Given the description of an element on the screen output the (x, y) to click on. 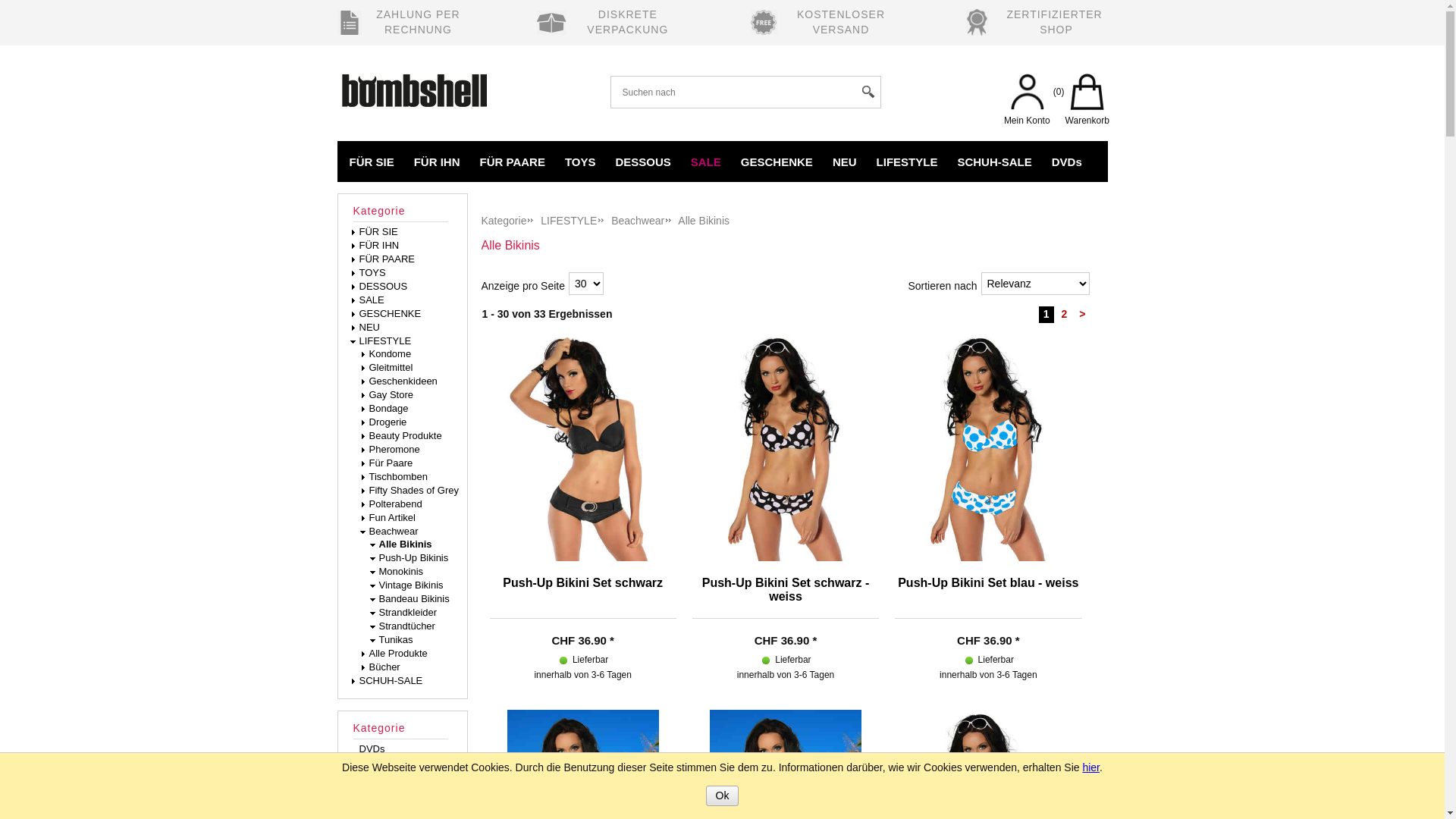
NEU Element type: text (844, 160)
 Fun Artikel Element type: text (392, 517)
 Monokinis Element type: text (402, 570)
 SALE Element type: text (372, 299)
 NEU Element type: text (370, 326)
 Drogerie Element type: text (387, 421)
 LIFESTYLE Element type: text (386, 340)
DVDs Element type: text (1066, 160)
Mein Konto Element type: hover (1027, 93)
 Kondome Element type: text (390, 353)
 Pheromone Element type: text (394, 448)
DESSOUS Element type: text (642, 160)
Zum Produkt Element type: hover (582, 447)
 Polterabend Element type: text (395, 503)
GESCHENKE Element type: text (776, 160)
Ok Element type: text (722, 795)
 Alle Produkte Element type: text (398, 652)
Push-Up Bikini Set blau - weiss Element type: text (987, 597)
Warenkorb Element type: hover (1086, 93)
 Geschenkideen Element type: text (403, 380)
Lieferbar
innerhalb von 3-6 Tagen Element type: hover (765, 660)
LIFESTYLE Element type: text (572, 221)
Mein Konto Element type: text (1027, 106)
 Beachwear Element type: text (393, 530)
 Fifty Shades of Grey Element type: text (414, 489)
 TOYS Element type: text (373, 272)
TOYS Element type: text (580, 160)
LIFESTYLE Element type: text (907, 160)
 Gay Store Element type: text (391, 394)
 DESSOUS Element type: text (384, 285)
Kategorie Element type: text (406, 211)
Zum Produkt Element type: hover (987, 447)
DVDs Element type: text (372, 748)
Bombshell Erotikshop Element type: hover (419, 82)
2 Element type: text (1064, 313)
> Element type: text (1081, 313)
Push-Up Bikini Set schwarz - weiss Element type: text (785, 597)
 Vintage Bikinis Element type: text (412, 584)
Push-Up Bikini Set schwarz Element type: text (582, 597)
 Gleitmittel Element type: text (391, 366)
 GESCHENKE Element type: text (391, 313)
Lieferbar
innerhalb von 3-6 Tagen Element type: hover (969, 660)
Kategorie Element type: text (507, 221)
 Tunikas Element type: text (396, 639)
hier Element type: text (1090, 767)
Beachwear Element type: text (642, 221)
Lieferbar
innerhalb von 3-6 Tagen Element type: hover (563, 660)
Zum Produkt Element type: hover (785, 447)
Warenkorb Element type: text (1087, 106)
 Push-Up Bikinis Element type: text (414, 557)
 SCHUH-SALE Element type: text (391, 680)
Suche starten Element type: hover (867, 92)
 Bandeau Bikinis Element type: text (415, 598)
Kategorie Element type: text (406, 728)
SALE Element type: text (705, 160)
 Strandkleider Element type: text (409, 611)
 Alle Bikinis Element type: text (406, 543)
 Bondage Element type: text (388, 407)
 Tischbomben Element type: text (398, 476)
 Beauty Produkte Element type: text (405, 435)
SCHUH-SALE Element type: text (993, 160)
